Given the description of an element on the screen output the (x, y) to click on. 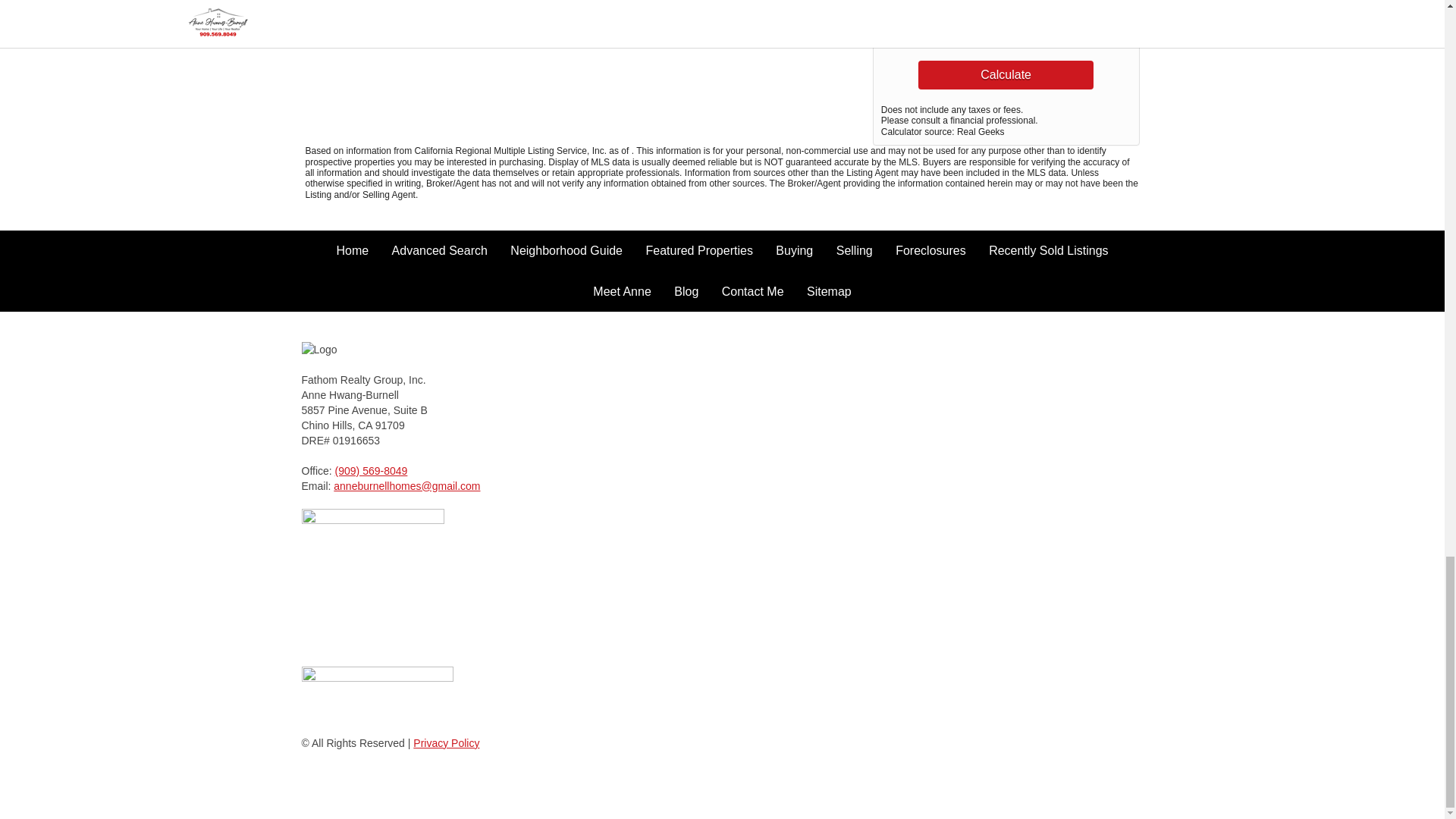
MLS Logo (376, 693)
30 (1037, 33)
Logo (357, 349)
6 (1037, 7)
